Given the description of an element on the screen output the (x, y) to click on. 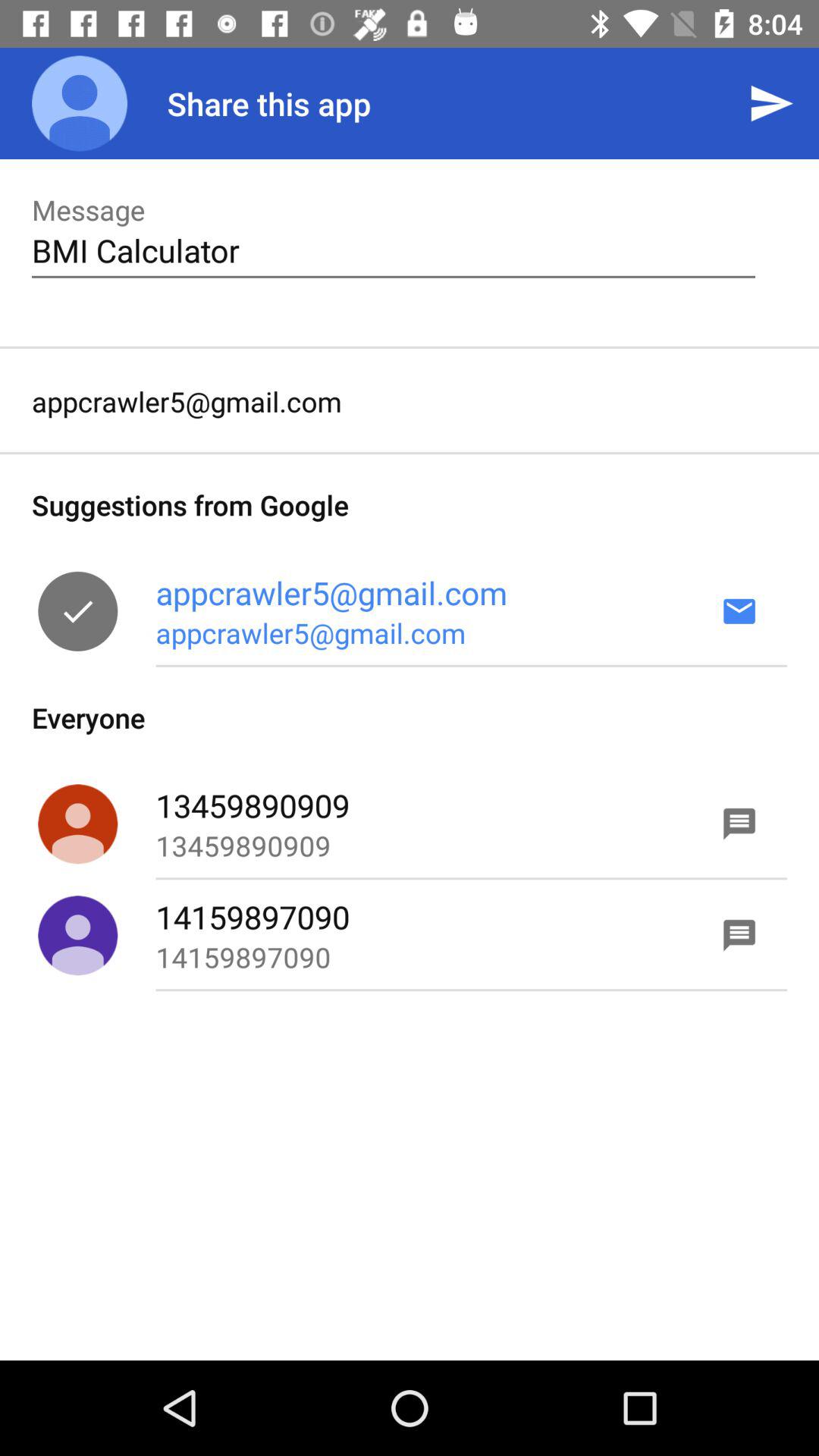
press bmi calculator  icon (393, 249)
